Given the description of an element on the screen output the (x, y) to click on. 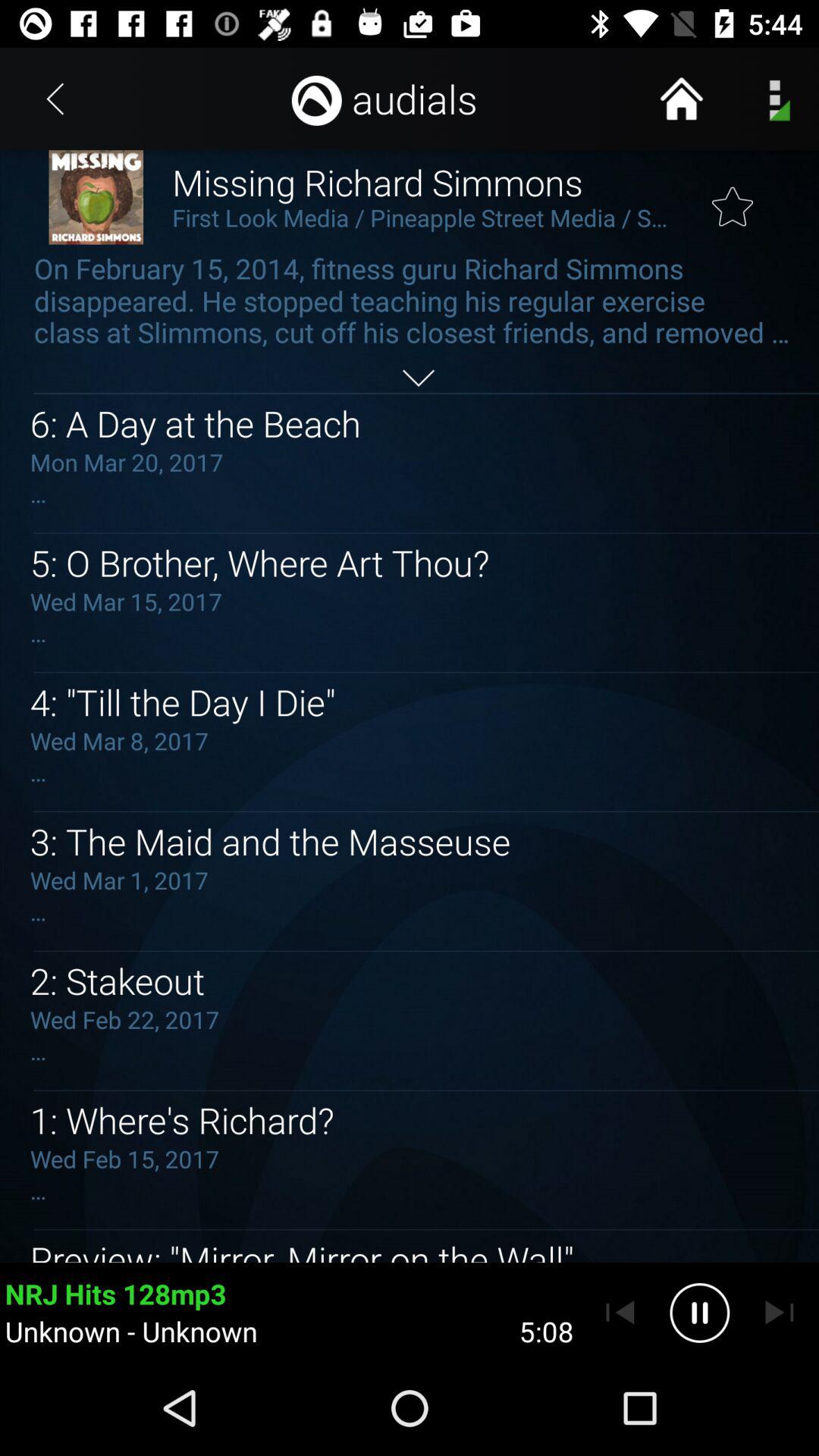
pause player (699, 1312)
